Given the description of an element on the screen output the (x, y) to click on. 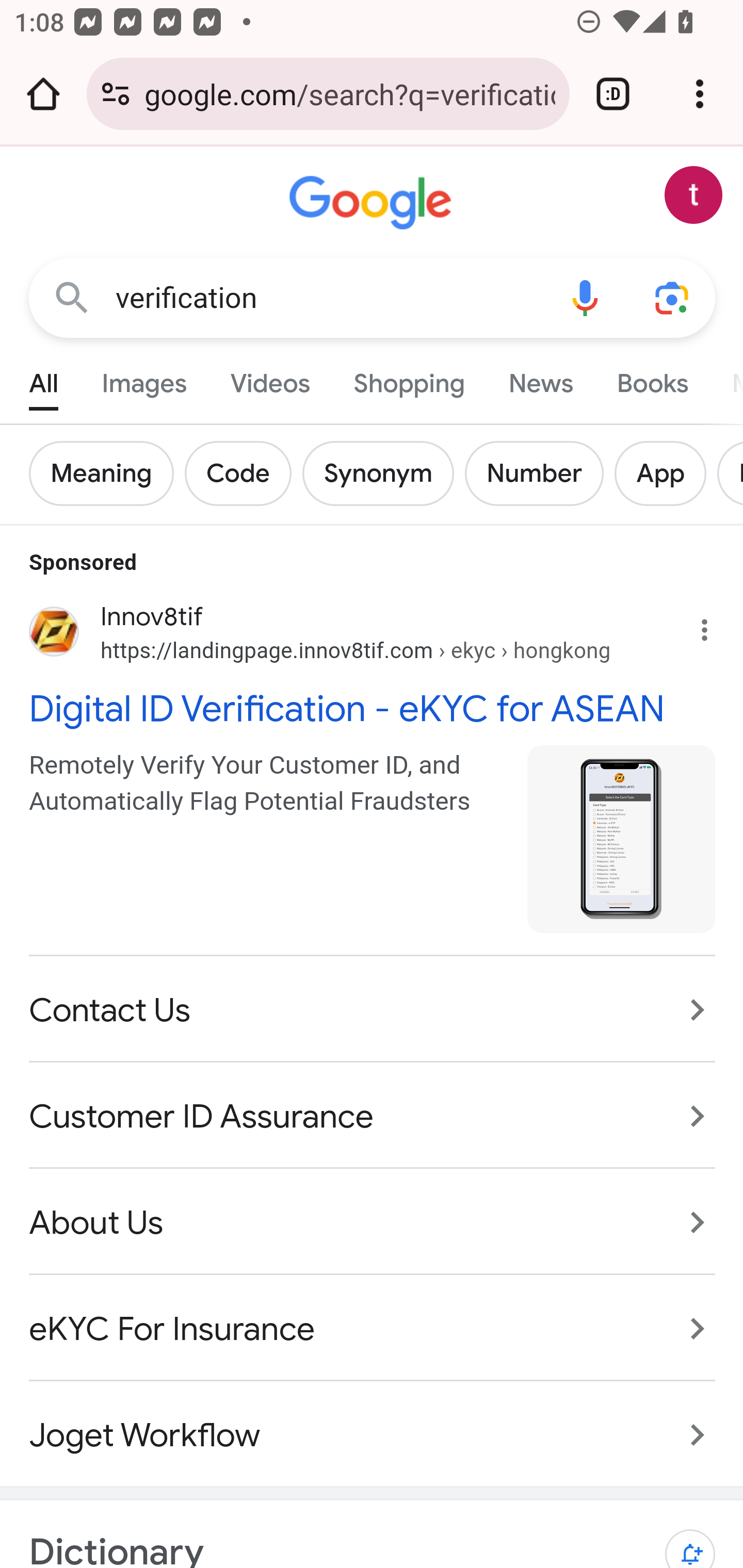
Open the home page (43, 93)
Connection is secure (115, 93)
Switch or close tabs (612, 93)
Customize and control Google Chrome (699, 93)
Google (372, 203)
Google Search (71, 296)
Search using your camera or photos (672, 296)
verification (328, 297)
Images (144, 378)
Videos (270, 378)
Shopping (408, 378)
News (540, 378)
Books (652, 378)
Add Meaning Meaning (106, 473)
Add Code Code (243, 473)
Add Synonym Synonym (383, 473)
Add Number Number (539, 473)
Add App App (665, 473)
Why this ad? (714, 625)
Digital ID Verification - eKYC for ASEAN (372, 707)
Image from innov8tif.com (621, 837)
Contact Us (372, 1009)
Customer ID Assurance (372, 1116)
About Us (372, 1222)
eKYC For Insurance (372, 1329)
Joget Workflow (372, 1424)
Get notifications about Word of the day (690, 1538)
